Given the description of an element on the screen output the (x, y) to click on. 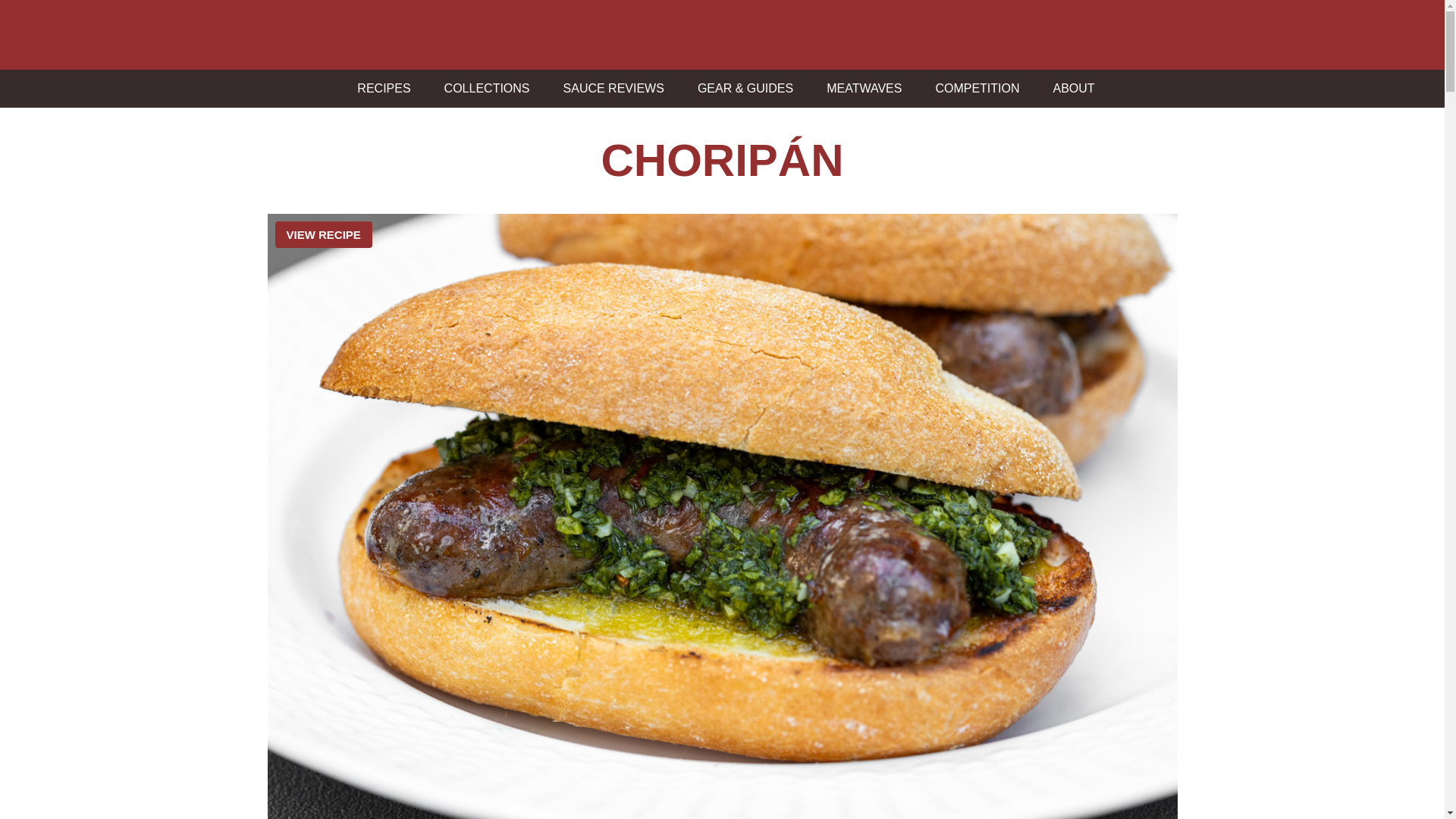
ABOUT (1069, 87)
MEATWAVES (860, 87)
COMPETITION (972, 87)
RECIPES (379, 87)
SAUCE REVIEWS (609, 87)
COLLECTIONS (483, 87)
VIEW RECIPE (323, 234)
Search (21, 8)
